Given the description of an element on the screen output the (x, y) to click on. 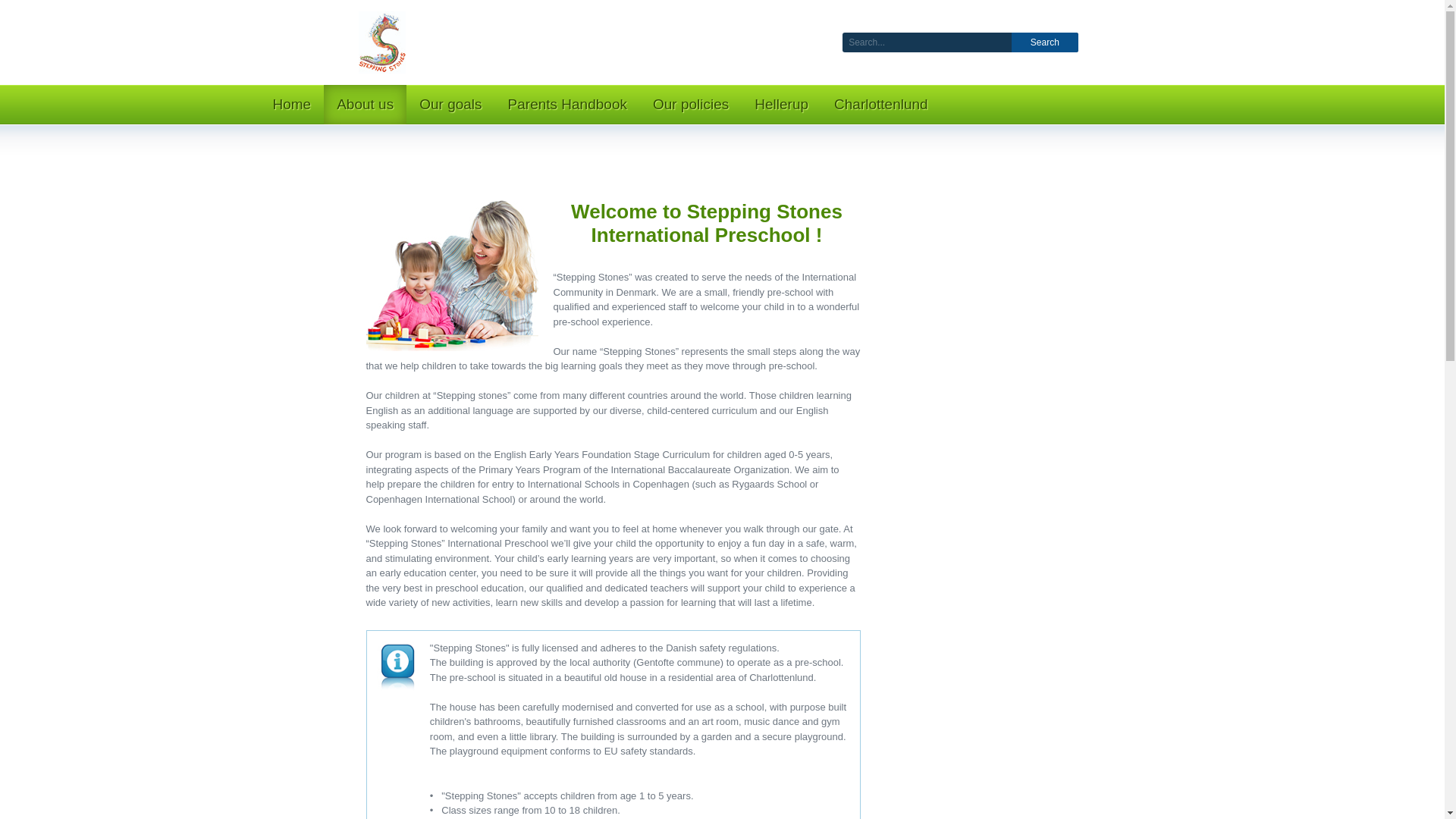
Our policies (690, 104)
Charlottenlund (880, 104)
Our goals (450, 104)
Hellerup (781, 104)
Search (1044, 42)
Home (291, 104)
About us (364, 104)
Parents Handbook (567, 104)
